Given the description of an element on the screen output the (x, y) to click on. 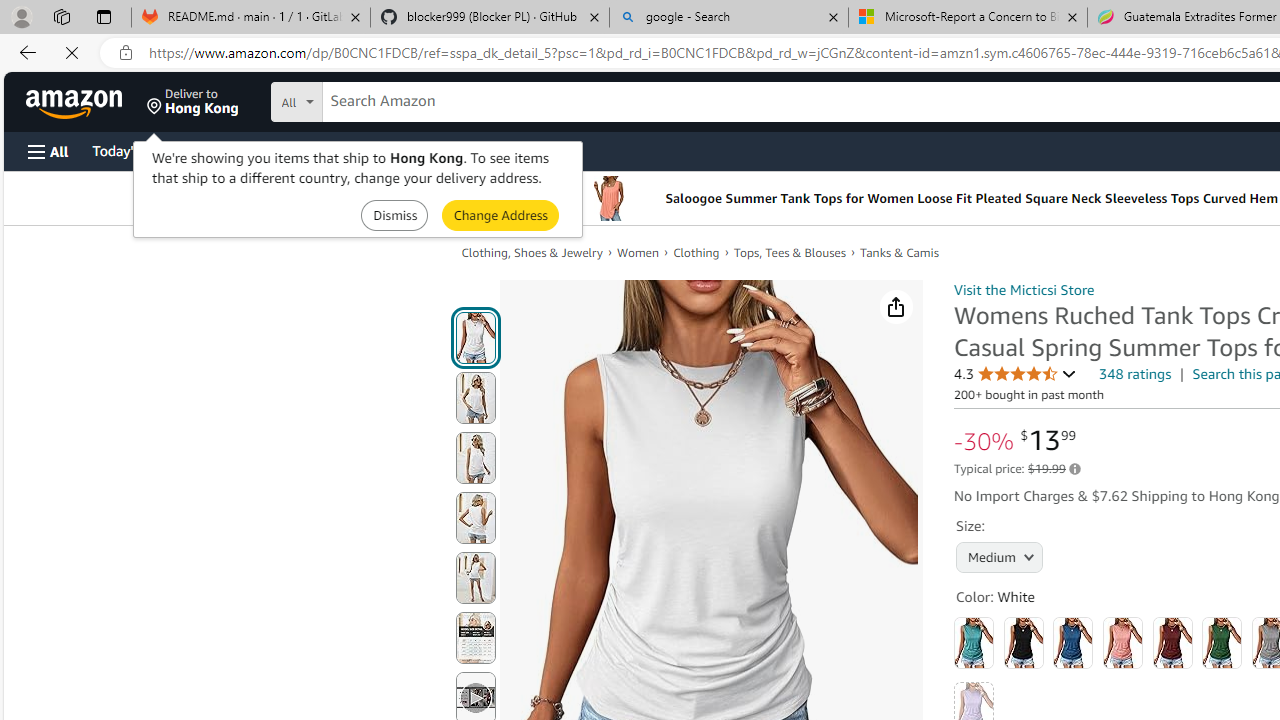
Share (896, 307)
Registry (360, 150)
Coral (1123, 642)
4.3 4.3 out of 5 stars (1015, 373)
AutomationID: native_dropdown_selected_size_name (999, 556)
Black (1023, 642)
Open Menu (48, 151)
google - Search (729, 17)
Blue (1073, 642)
348 ratings (1135, 374)
Coral (1123, 642)
Clothing, Shoes & Jewelry (539, 252)
